Given the description of an element on the screen output the (x, y) to click on. 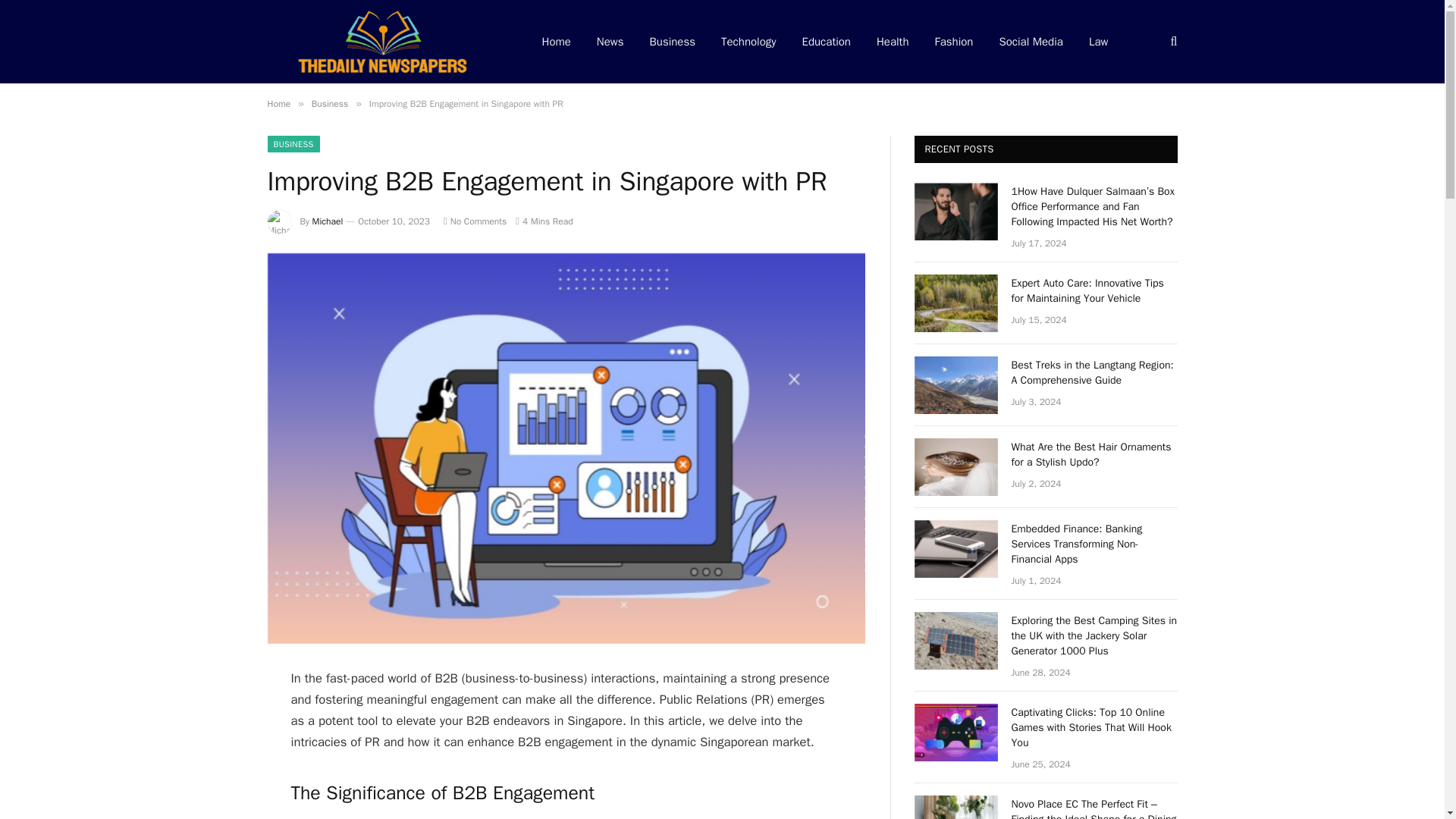
Business (329, 103)
Education (826, 41)
thedailynewspapers (384, 41)
Posts by Michael (328, 221)
Michael (328, 221)
Social Media (1030, 41)
No Comments (475, 221)
Home (277, 103)
BUSINESS (292, 143)
Technology (748, 41)
